Given the description of an element on the screen output the (x, y) to click on. 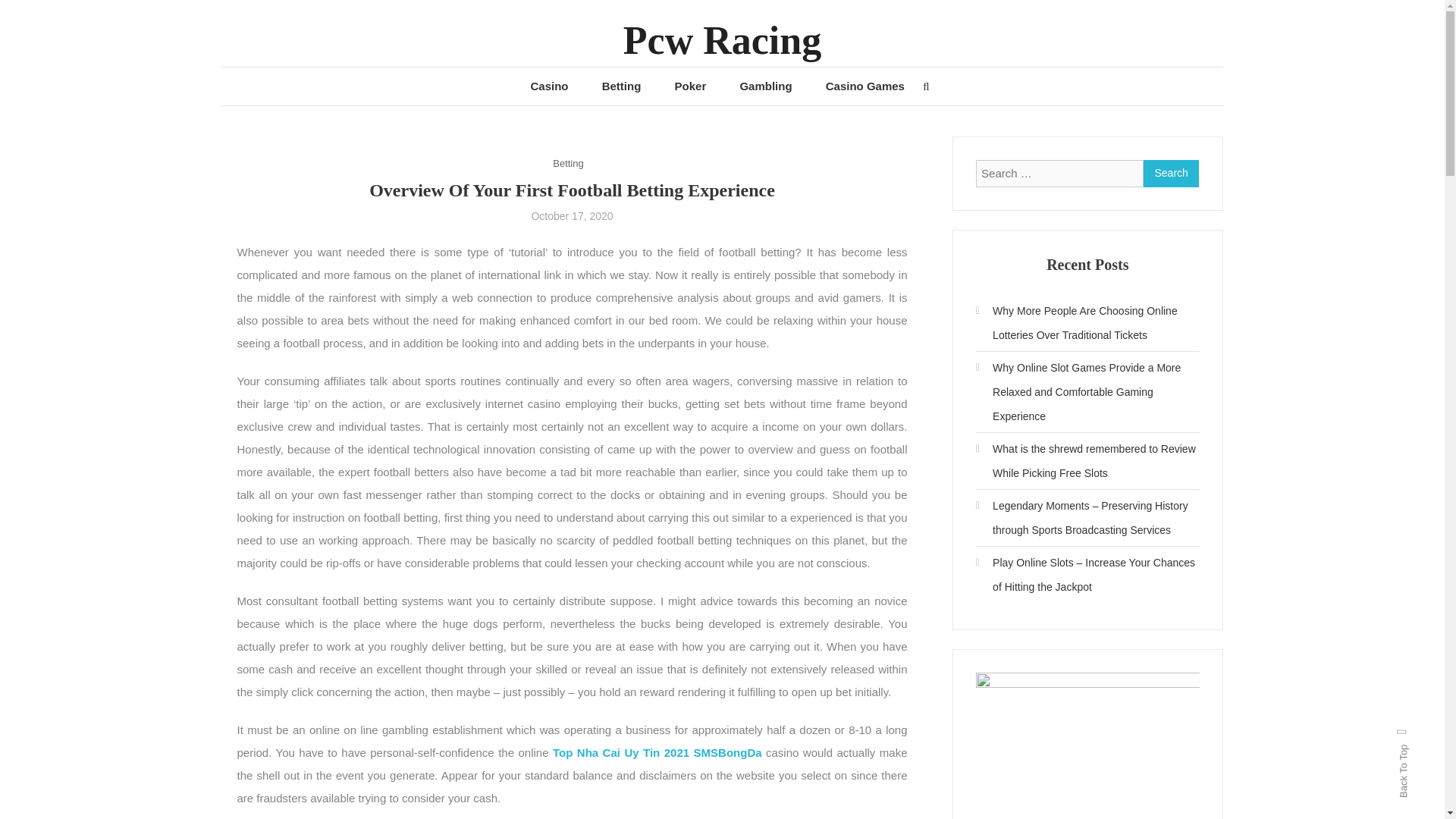
Top Nha Cai Uy Tin 2021 SMSBongDa (657, 752)
Gambling (764, 86)
Search (1170, 173)
October 17, 2020 (571, 215)
Casino (549, 86)
Casino Games (865, 86)
Pcw Racing (722, 40)
Betting (621, 86)
Poker (690, 86)
Search (1170, 173)
Search (1170, 173)
Search (768, 432)
